Given the description of an element on the screen output the (x, y) to click on. 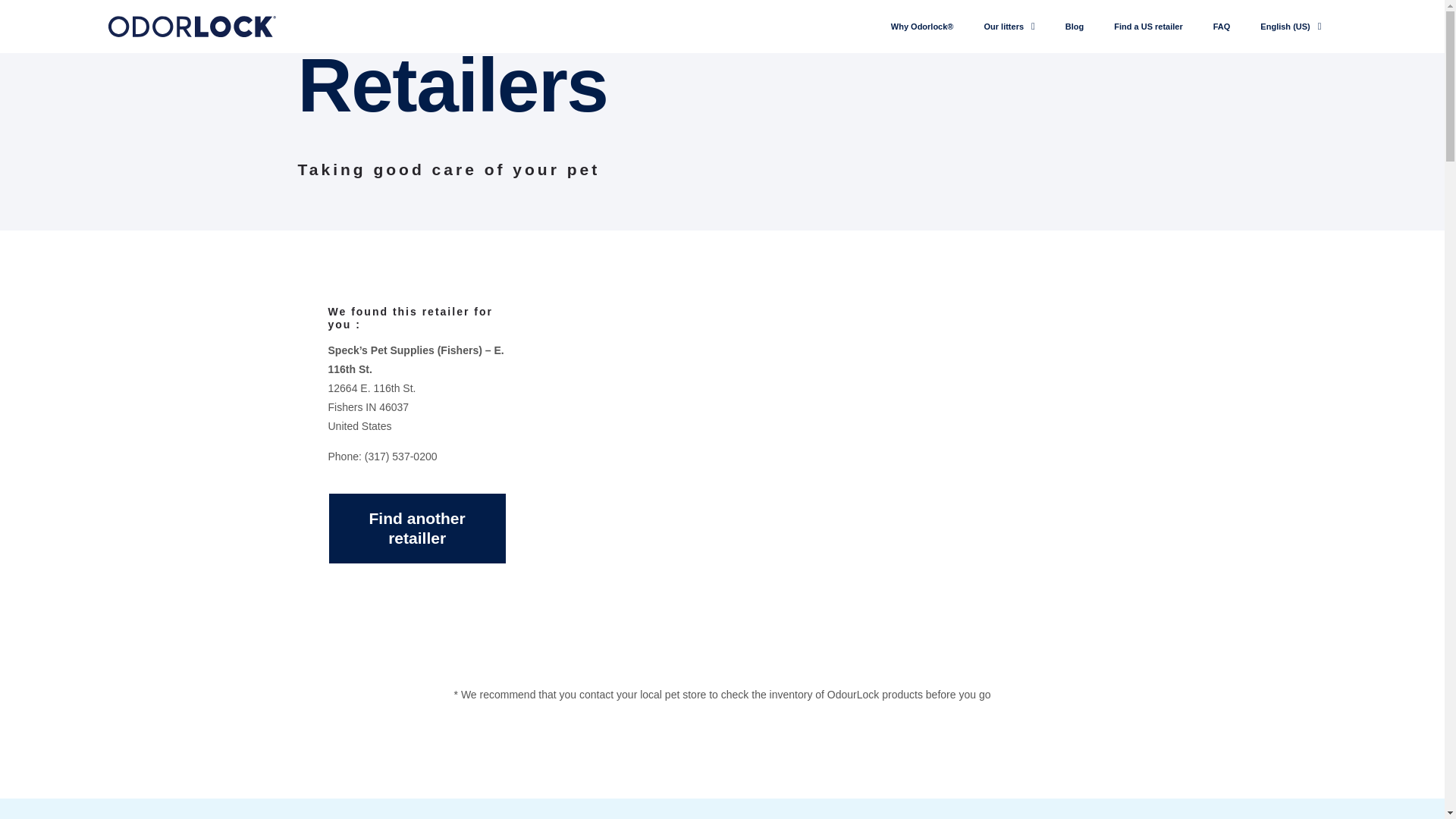
FAQ (1222, 26)
Find a store (1147, 26)
Blog (1074, 26)
Frequent questions (1222, 26)
Find another retailler (416, 528)
Find a US retailer (1147, 26)
Ultra-premium clumping litter (1008, 26)
Our litters (1008, 26)
